Given the description of an element on the screen output the (x, y) to click on. 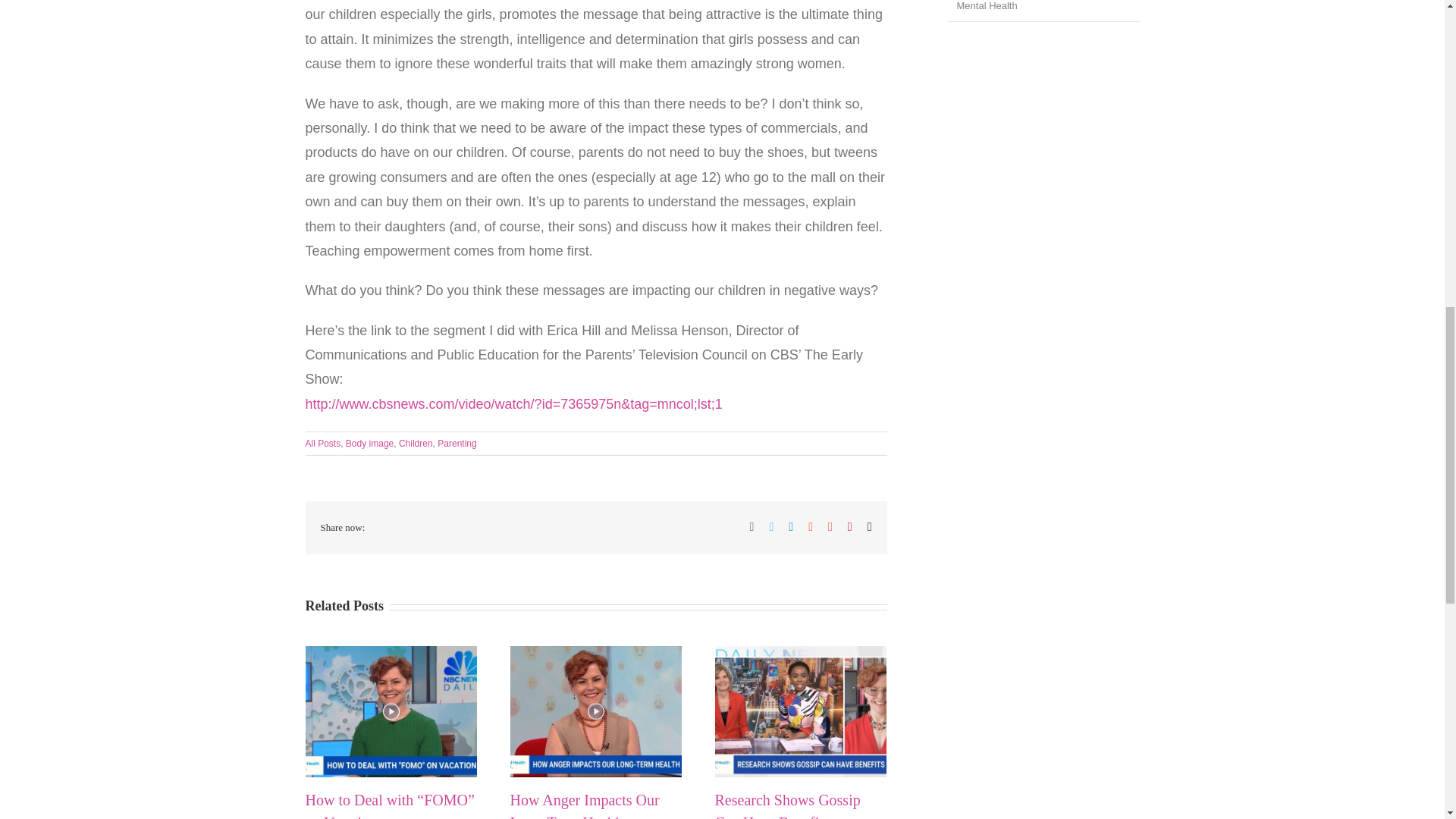
Parenting (457, 443)
Linkedin (791, 526)
Googleplus (830, 526)
Email (869, 526)
Googleplus (830, 526)
Reddit (810, 526)
Facebook (751, 526)
Twitter (770, 526)
Pinterest (849, 526)
All Posts (322, 443)
Body image (369, 443)
Children (415, 443)
Linkedin (791, 526)
Email (869, 526)
Reddit (810, 526)
